Given the description of an element on the screen output the (x, y) to click on. 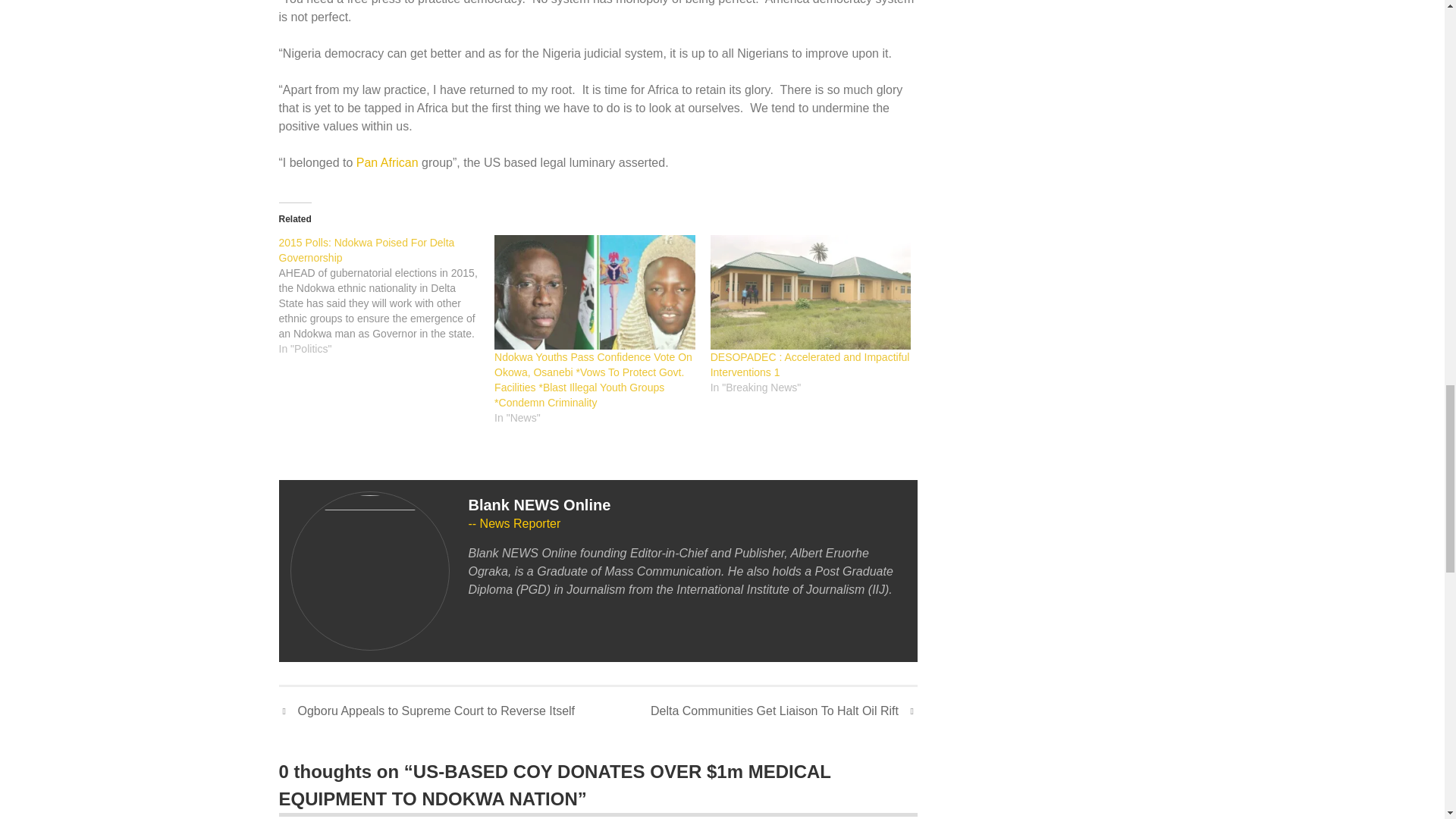
2015 Polls: Ndokwa Poised For Delta Governorship (366, 249)
2015 Polls: Ndokwa Poised For Delta Governorship (387, 295)
DESOPADEC : Accelerated and Impactiful Interventions 1 (810, 292)
DESOPADEC : Accelerated and Impactiful Interventions 1 (810, 364)
Pan-Africanism (387, 162)
